Given the description of an element on the screen output the (x, y) to click on. 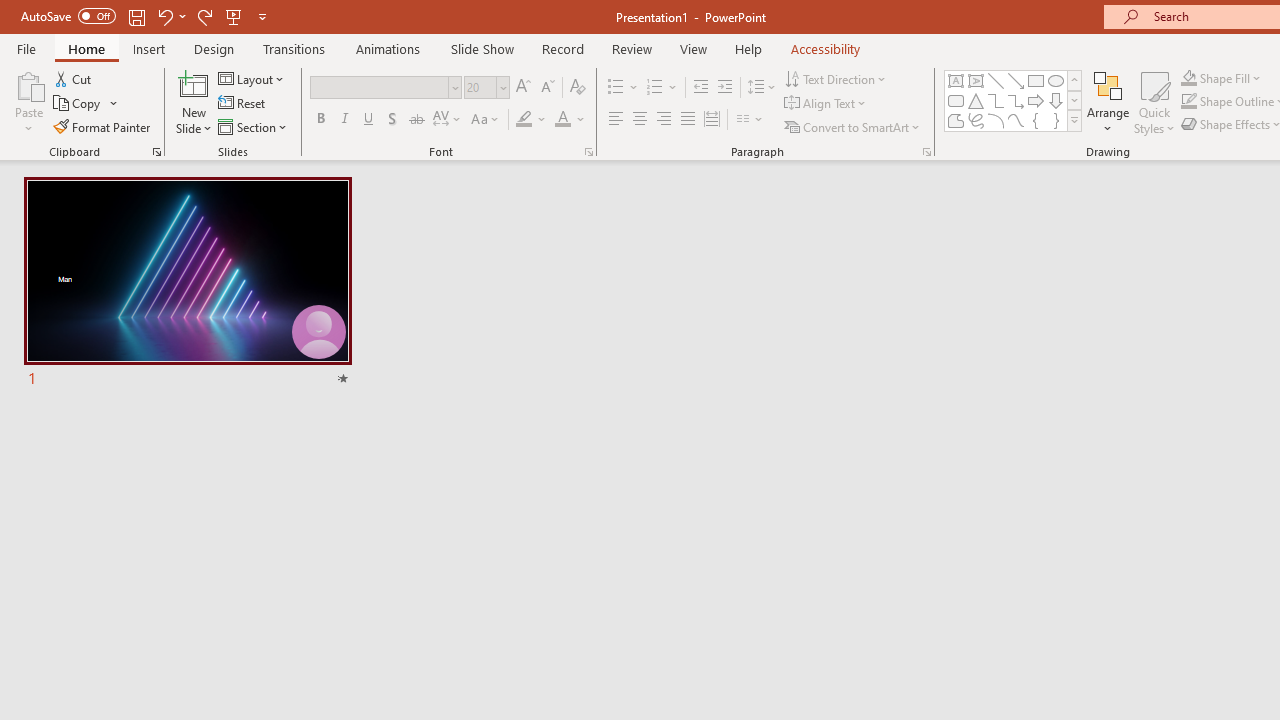
AutomationID: ShapesInsertGallery (1014, 100)
Freeform: Scribble (975, 120)
Line (995, 80)
Text Highlight Color Yellow (524, 119)
Vertical Text Box (975, 80)
Left Brace (1035, 120)
